Given the description of an element on the screen output the (x, y) to click on. 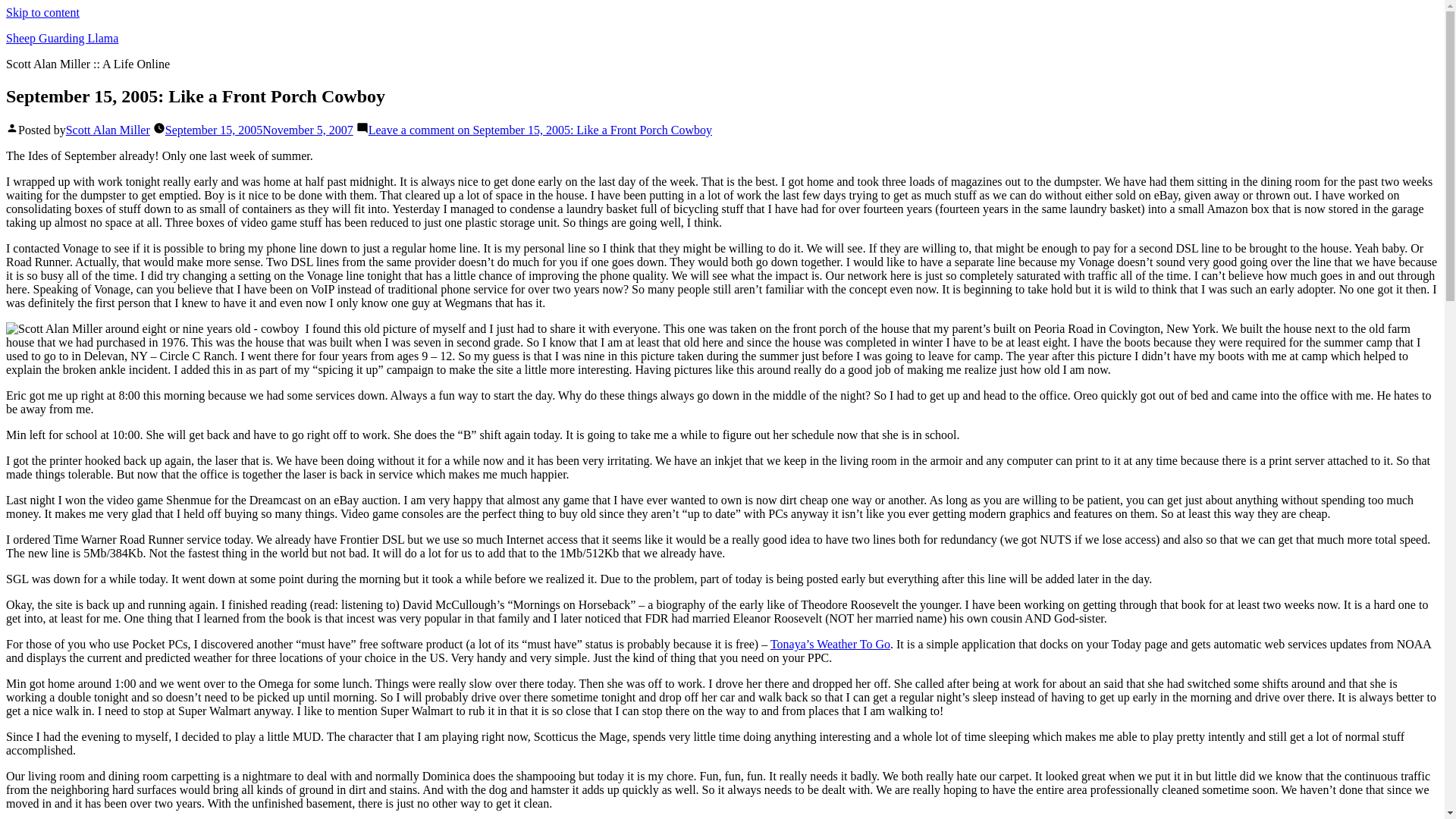
Sheep Guarding Llama (61, 38)
September 15, 2005November 5, 2007 (259, 129)
Scott Alan Miller (107, 129)
Skip to content (42, 11)
